Given the description of an element on the screen output the (x, y) to click on. 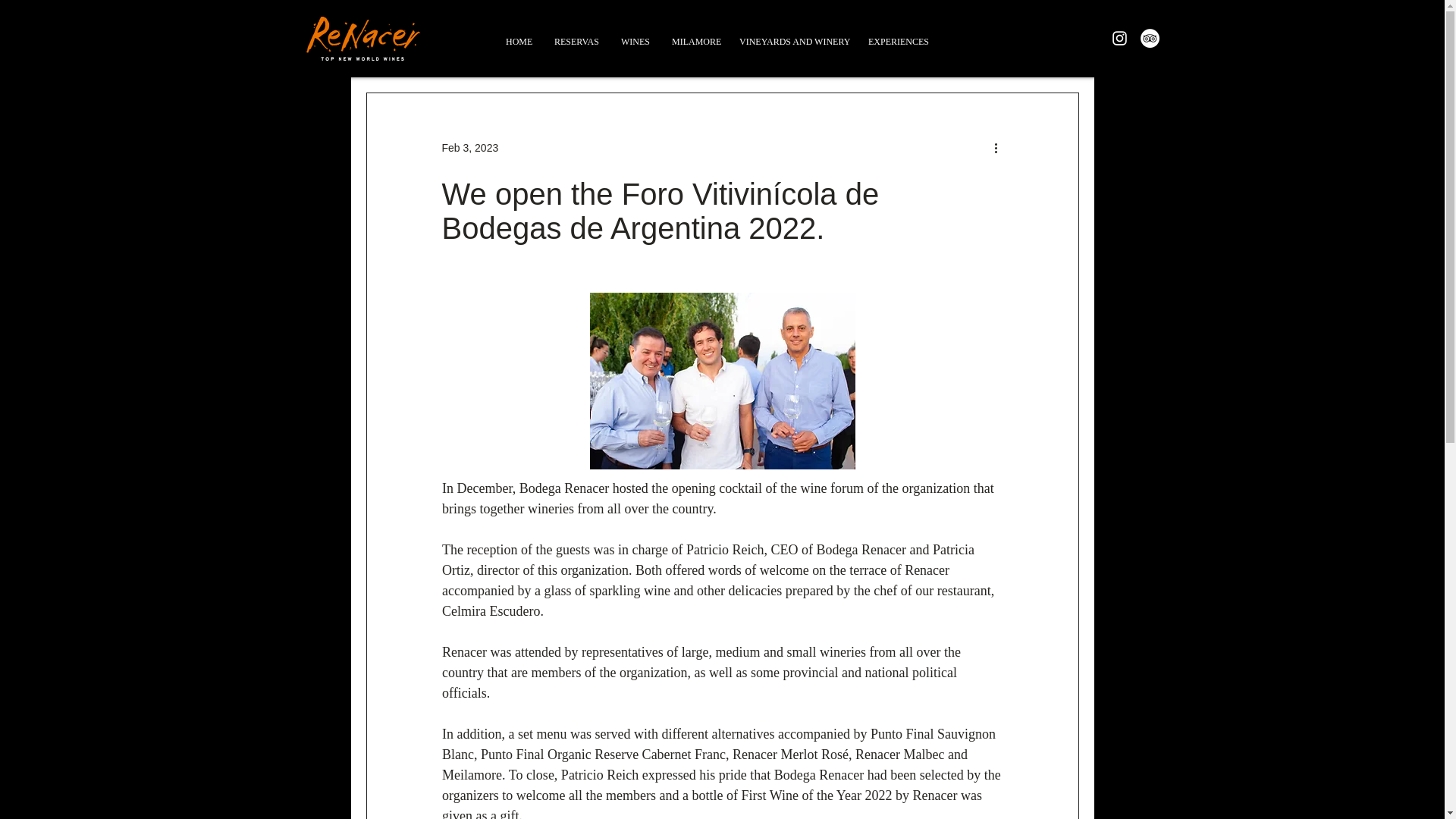
MILAMORE (694, 41)
WINES (635, 41)
EXPERIENCES (897, 41)
Feb 3, 2023 (469, 146)
VINEYARDS AND WINERY (792, 41)
HOME (519, 41)
RESERVAS (576, 41)
